Given the description of an element on the screen output the (x, y) to click on. 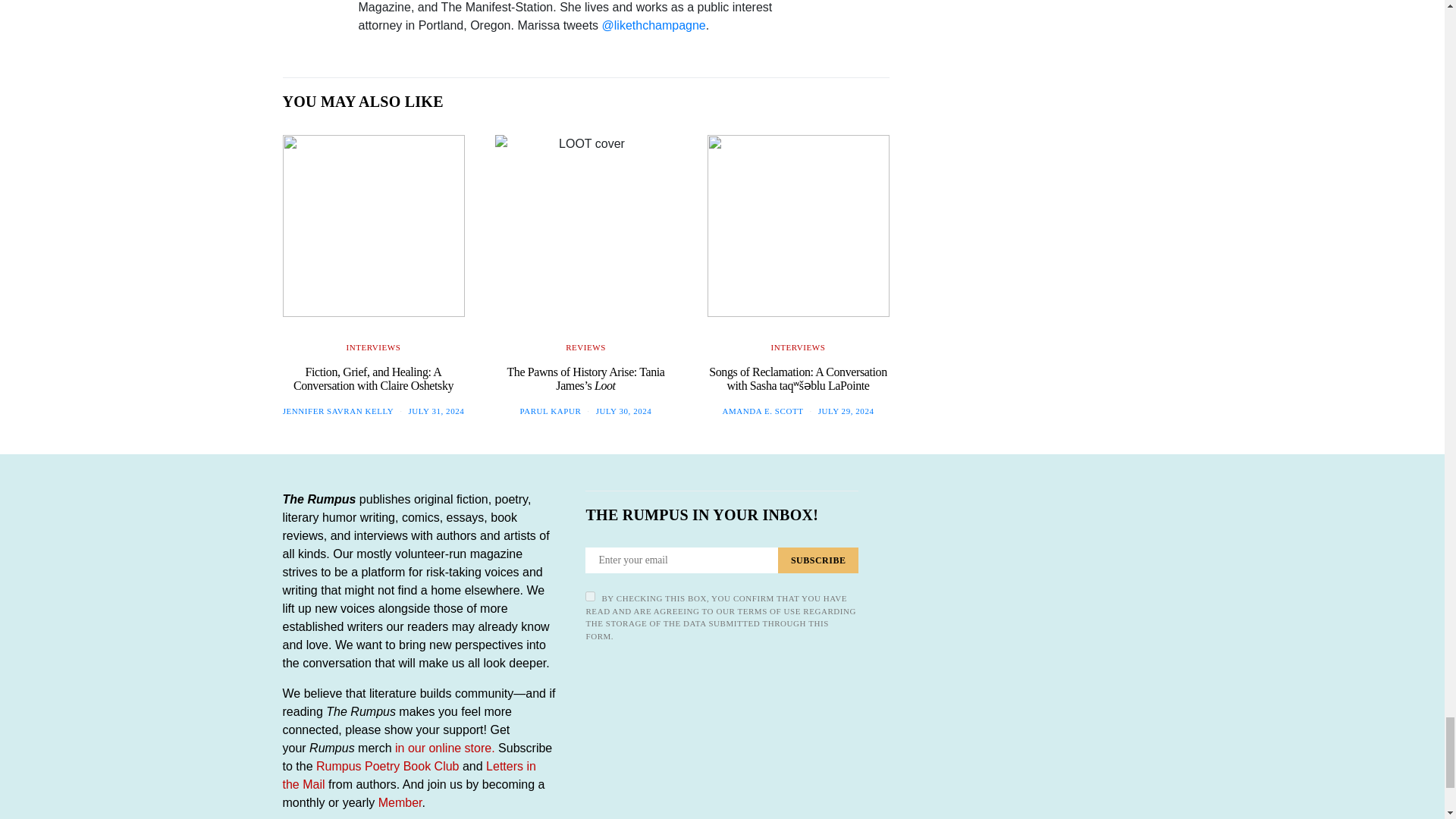
View all posts by Jennifer Savran Kelly (338, 410)
on (590, 596)
View all posts by Parul Kapur (549, 410)
View all posts by Amanda E. Scott (762, 410)
